Given the description of an element on the screen output the (x, y) to click on. 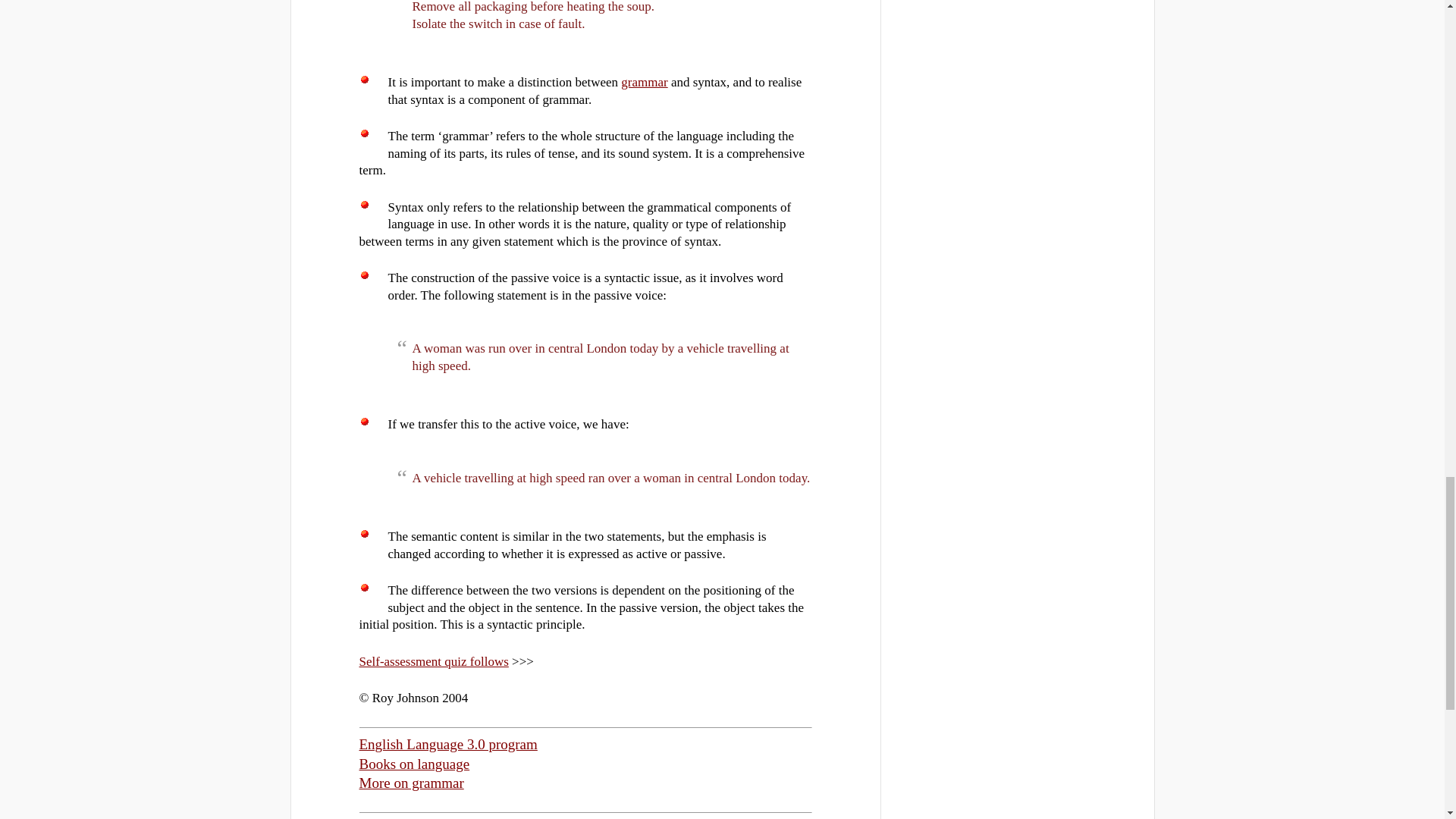
Books on language (414, 763)
grammar (643, 82)
English Language 3.0 program (448, 744)
redbtn (364, 132)
redbtn (364, 79)
More on grammar (411, 782)
Self-assessment quiz follows (433, 661)
